Given the description of an element on the screen output the (x, y) to click on. 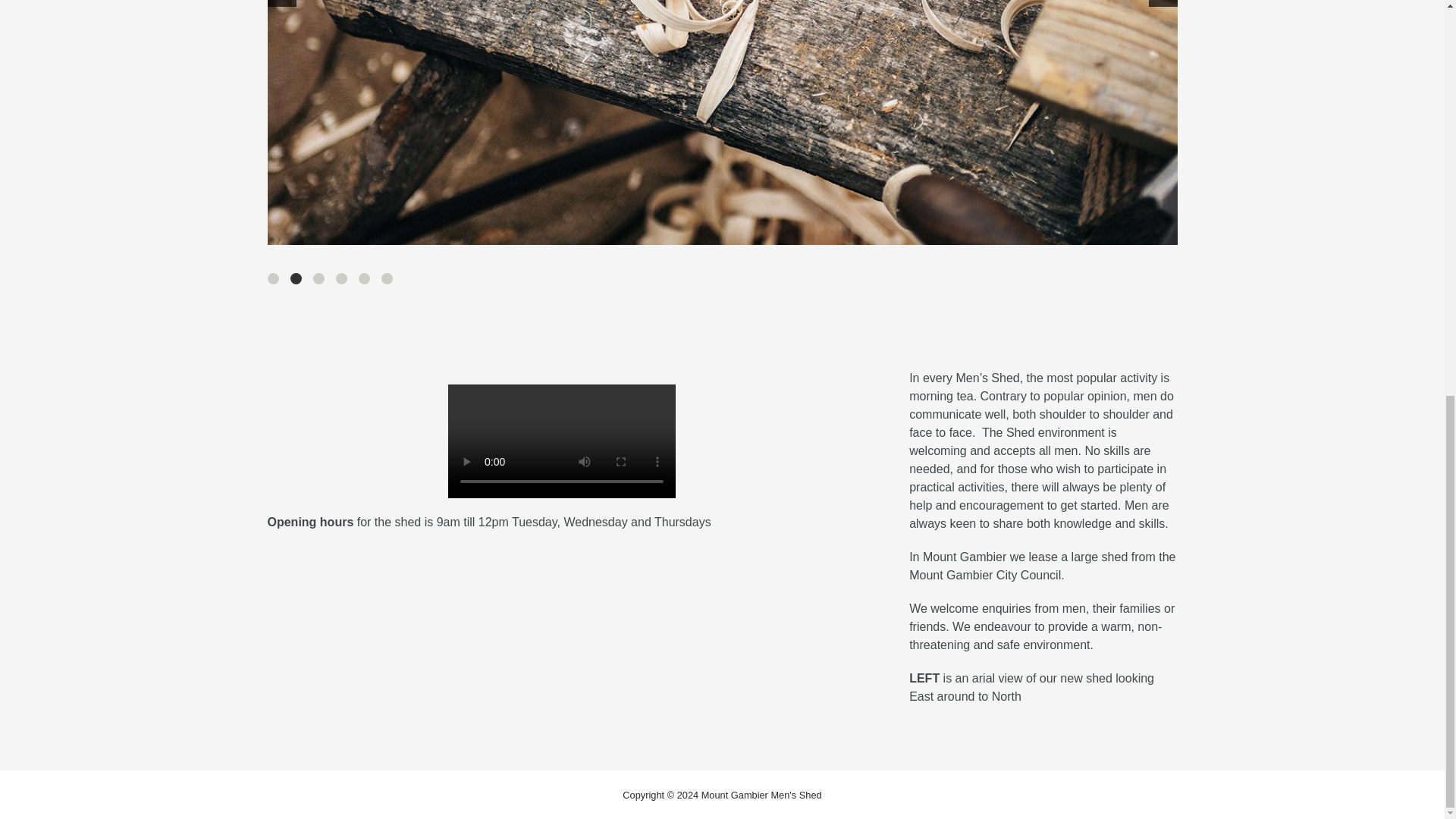
6 (385, 278)
1 (272, 278)
3 (318, 278)
5 (363, 278)
2 (295, 278)
4 (340, 278)
